Given the description of an element on the screen output the (x, y) to click on. 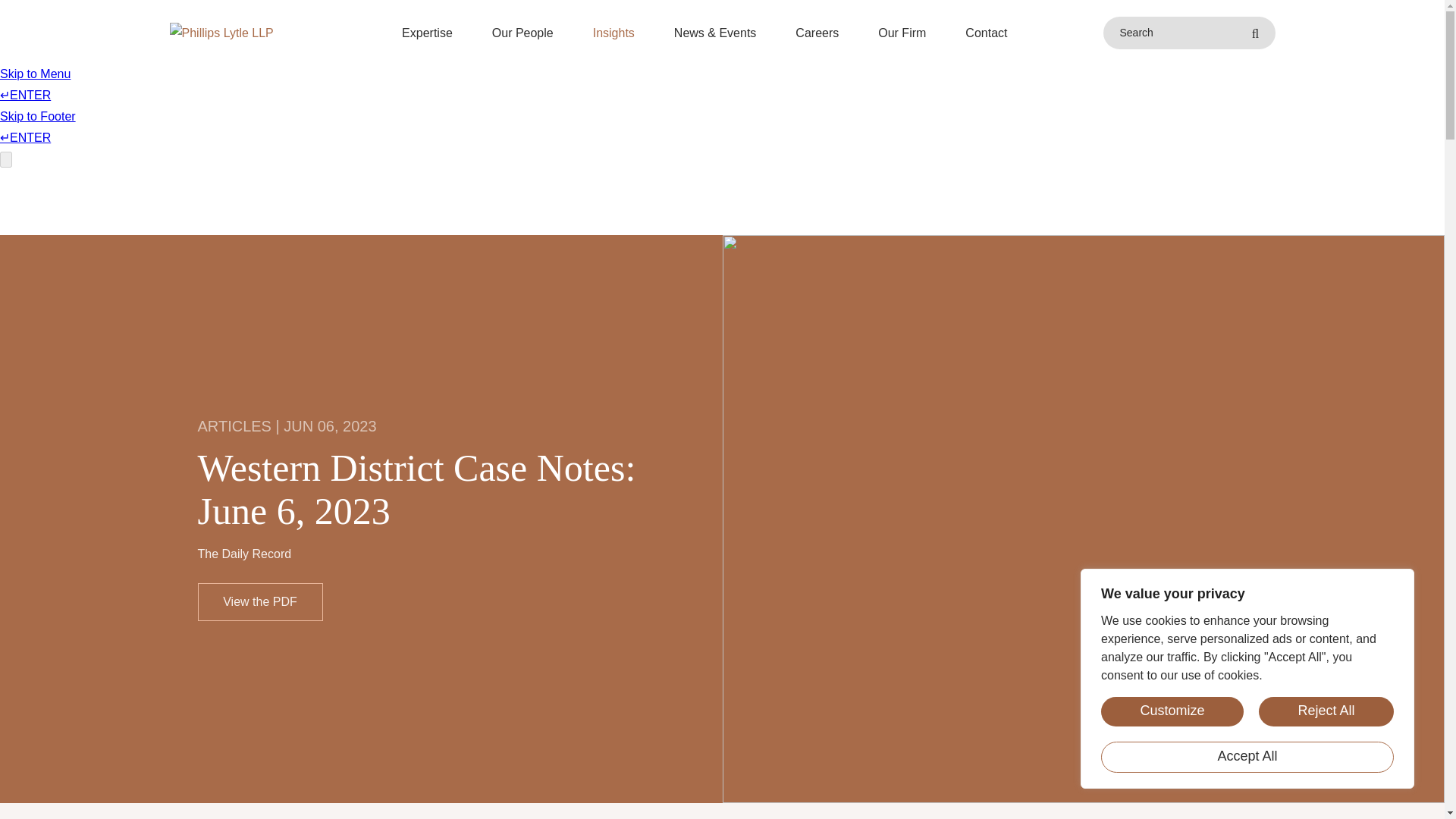
search (1254, 33)
Customize (1171, 711)
Reject All (1326, 711)
Expertise  Our Phillips Lytle Way is our law frim (426, 33)
Expertise (426, 33)
Accept All (1246, 757)
